Given the description of an element on the screen output the (x, y) to click on. 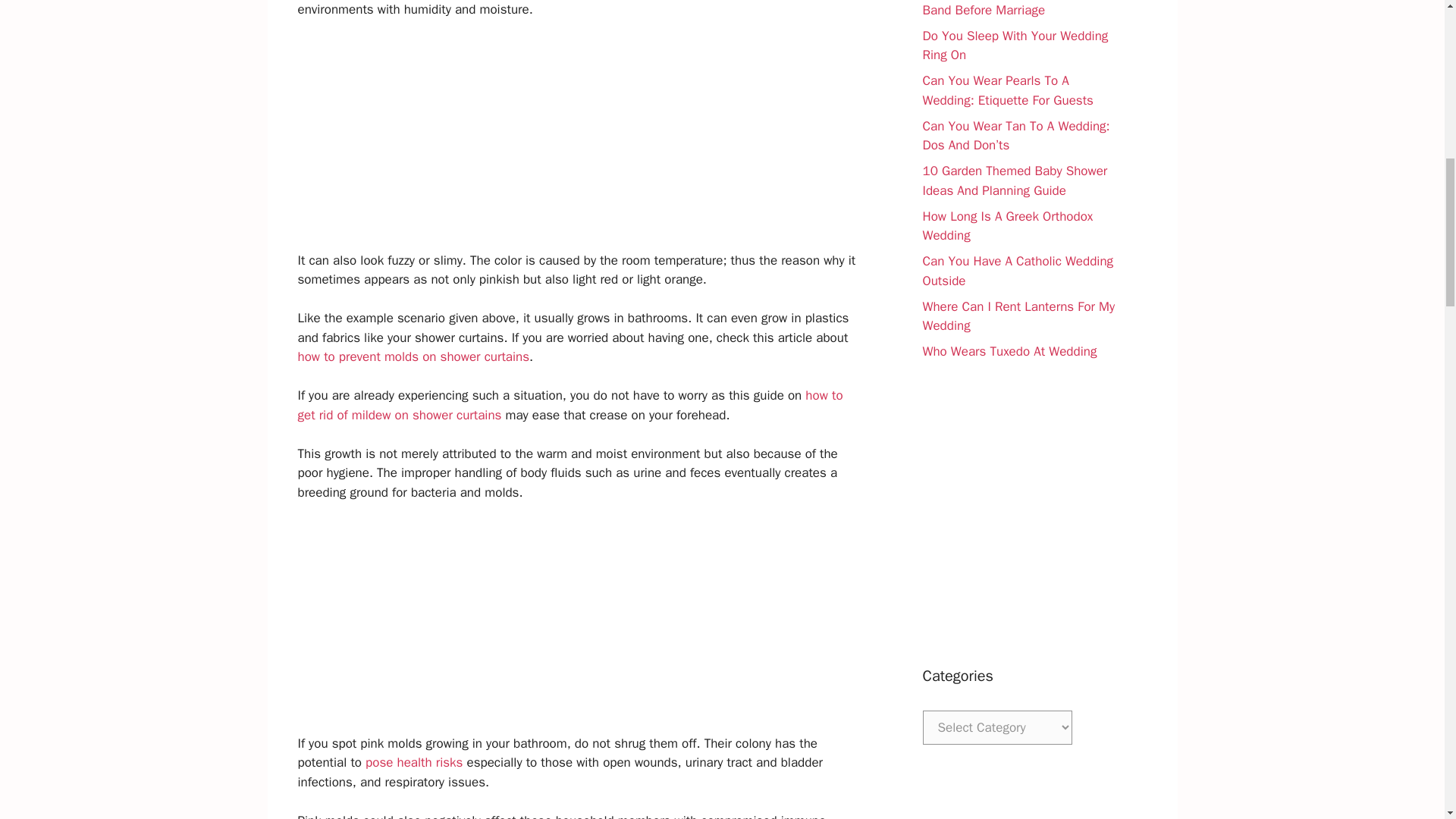
Advertisement (579, 144)
Advertisement (1019, 513)
Advertisement (579, 627)
Scroll back to top (1406, 720)
